Given the description of an element on the screen output the (x, y) to click on. 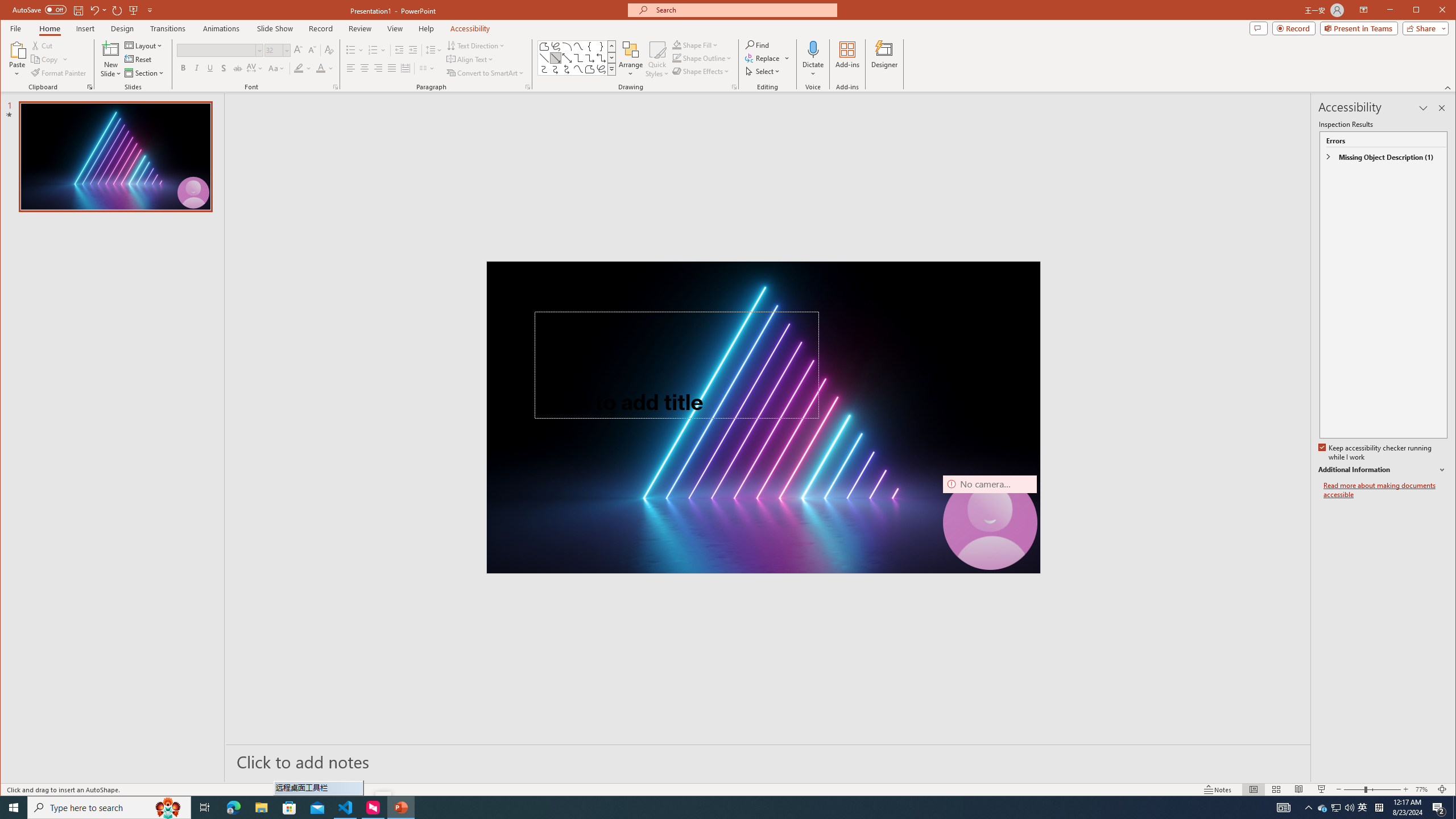
Connector: Curved Arrow (556, 69)
